Given the description of an element on the screen output the (x, y) to click on. 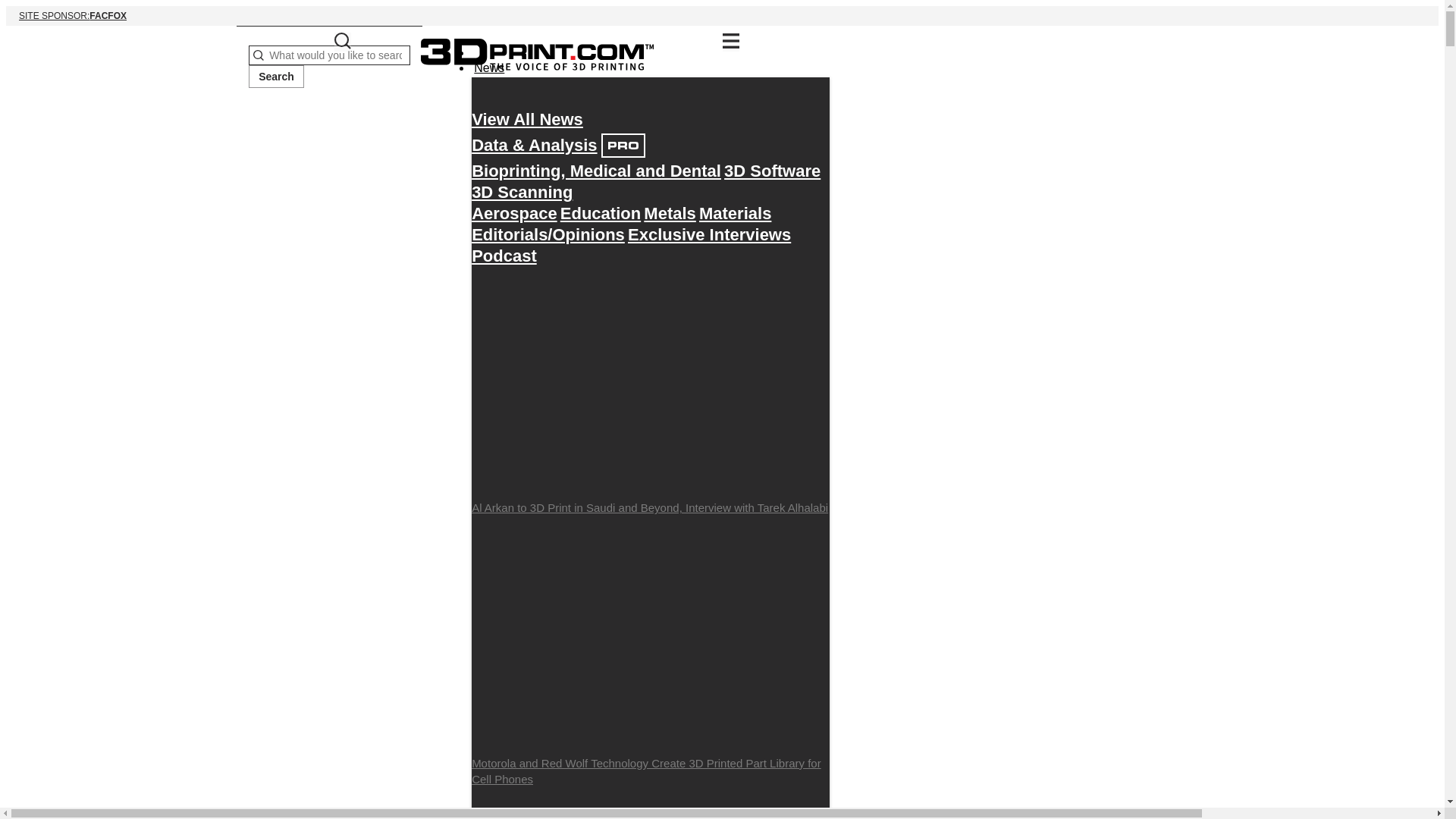
Education (600, 213)
Search (276, 76)
News (488, 67)
Exclusive Interviews (708, 234)
View All News (527, 119)
3D Software (772, 170)
Materials (734, 213)
Bioprinting, Medical and Dental (595, 170)
Podcast (504, 255)
3D Scanning (521, 191)
Metals (721, 15)
Aerospace (669, 213)
